Given the description of an element on the screen output the (x, y) to click on. 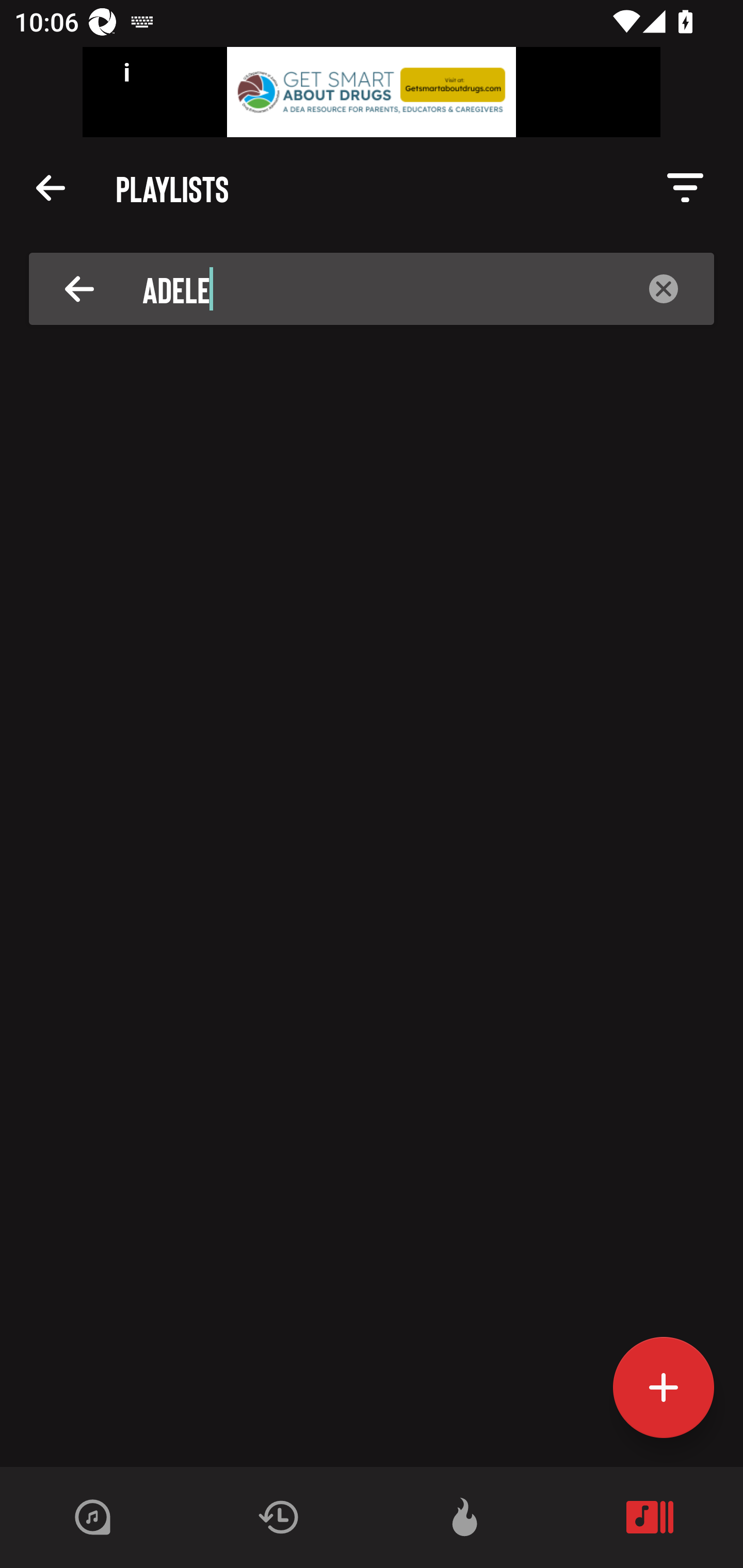
Description (50, 187)
Description (684, 188)
Adele (377, 288)
Description (79, 288)
Description (663, 288)
